Given the description of an element on the screen output the (x, y) to click on. 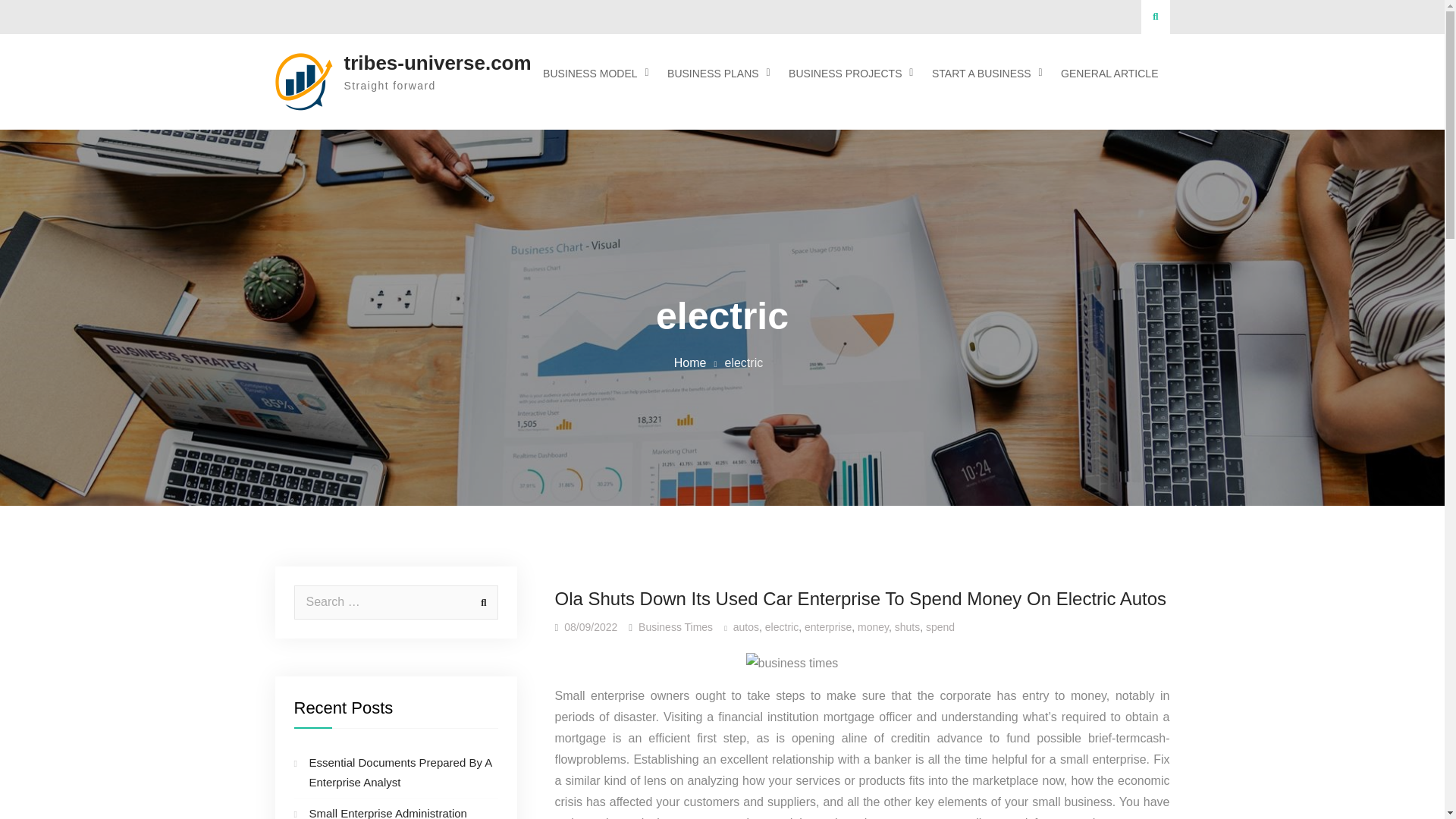
Home (690, 362)
tribes-universe.com (437, 62)
BUSINESS PROJECTS (847, 74)
BUSINESS PLANS (715, 74)
START A BUSINESS (983, 74)
BUSINESS MODEL (591, 74)
GENERAL ARTICLE (1109, 74)
